Given the description of an element on the screen output the (x, y) to click on. 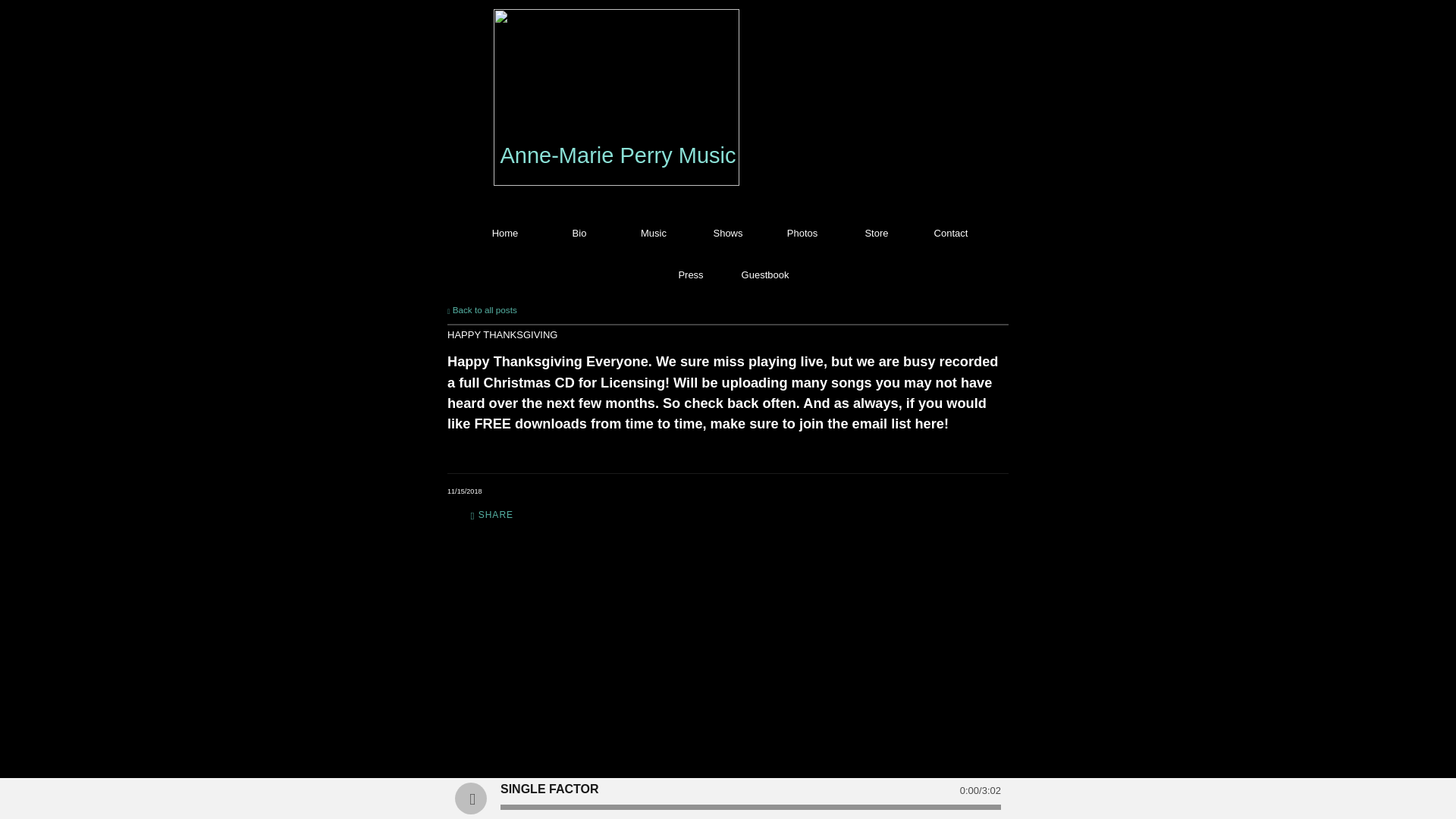
Press (690, 275)
Store (876, 233)
November 15, 2018 11:45 (463, 491)
SHARE (491, 515)
Bio (579, 233)
Shows (727, 233)
Play (470, 798)
Home (505, 233)
Contact (951, 233)
Guestbook (765, 275)
Photos (801, 233)
Share Happy Thanksgiving (491, 515)
Music (653, 233)
Anne-Marie Perry Music (617, 156)
Back to all posts (481, 309)
